Given the description of an element on the screen output the (x, y) to click on. 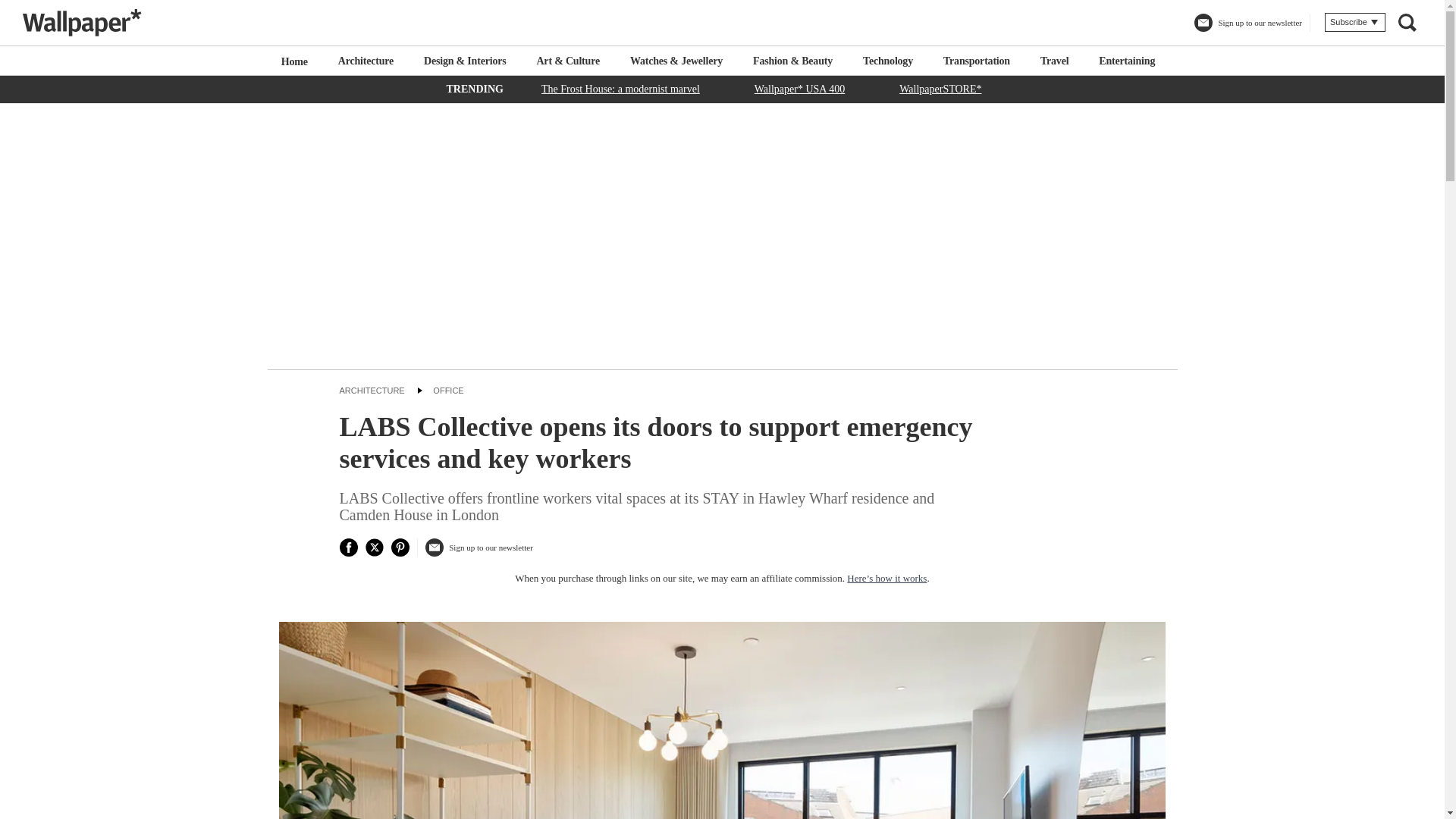
Travel (1054, 60)
Technology (887, 60)
Sign up to our newsletter (478, 552)
Sign up to our newsletter (1247, 28)
OFFICE (447, 389)
Architecture (365, 60)
Entertaining (1126, 60)
Transportation (976, 60)
The Frost House: a modernist marvel (619, 88)
ARCHITECTURE (371, 389)
